Given the description of an element on the screen output the (x, y) to click on. 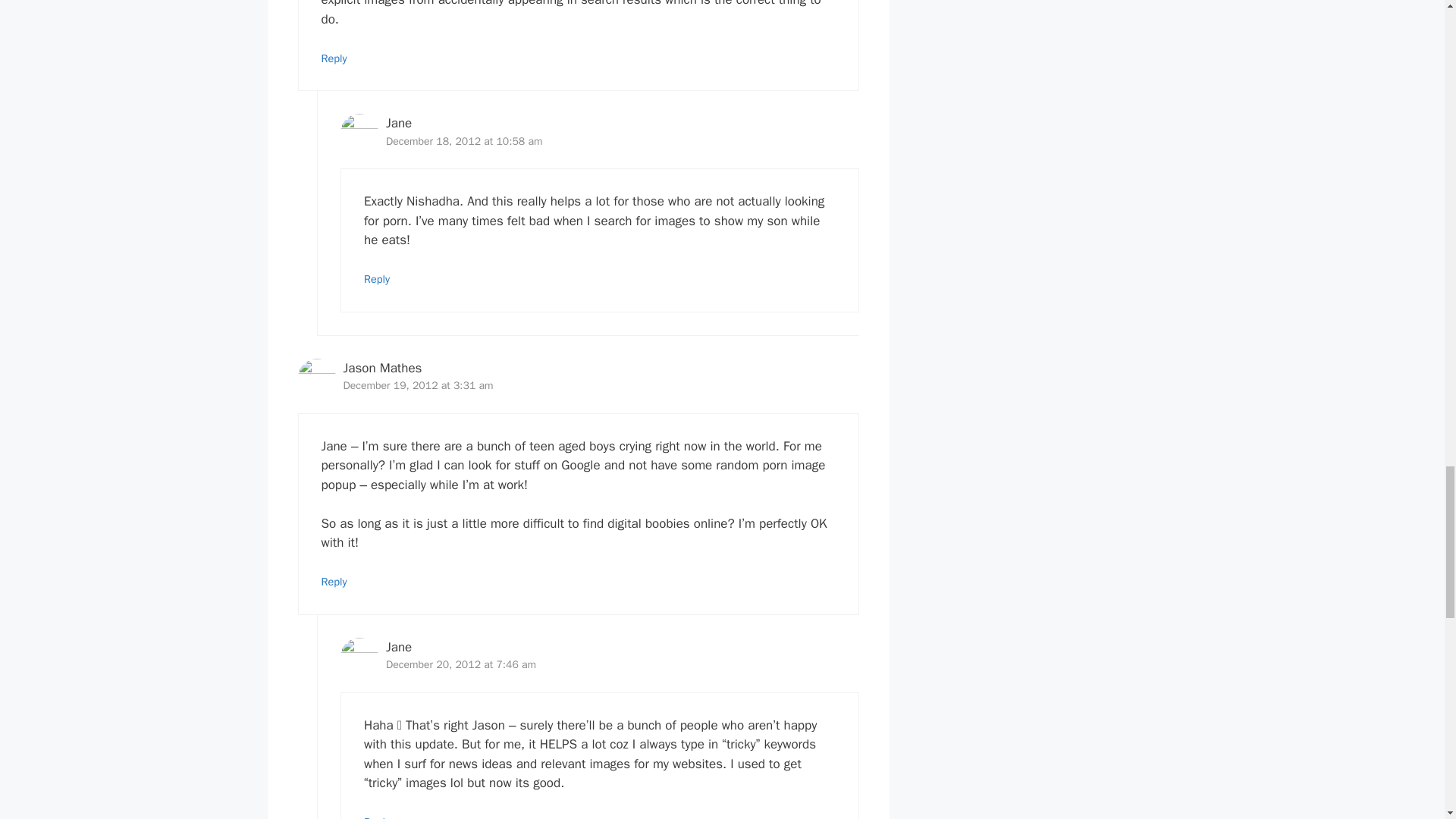
December 19, 2012 at 3:31 am (417, 385)
Reply (377, 278)
Reply (334, 58)
Reply (334, 581)
December 20, 2012 at 7:46 am (460, 664)
Reply (377, 816)
December 18, 2012 at 10:58 am (463, 141)
